Given the description of an element on the screen output the (x, y) to click on. 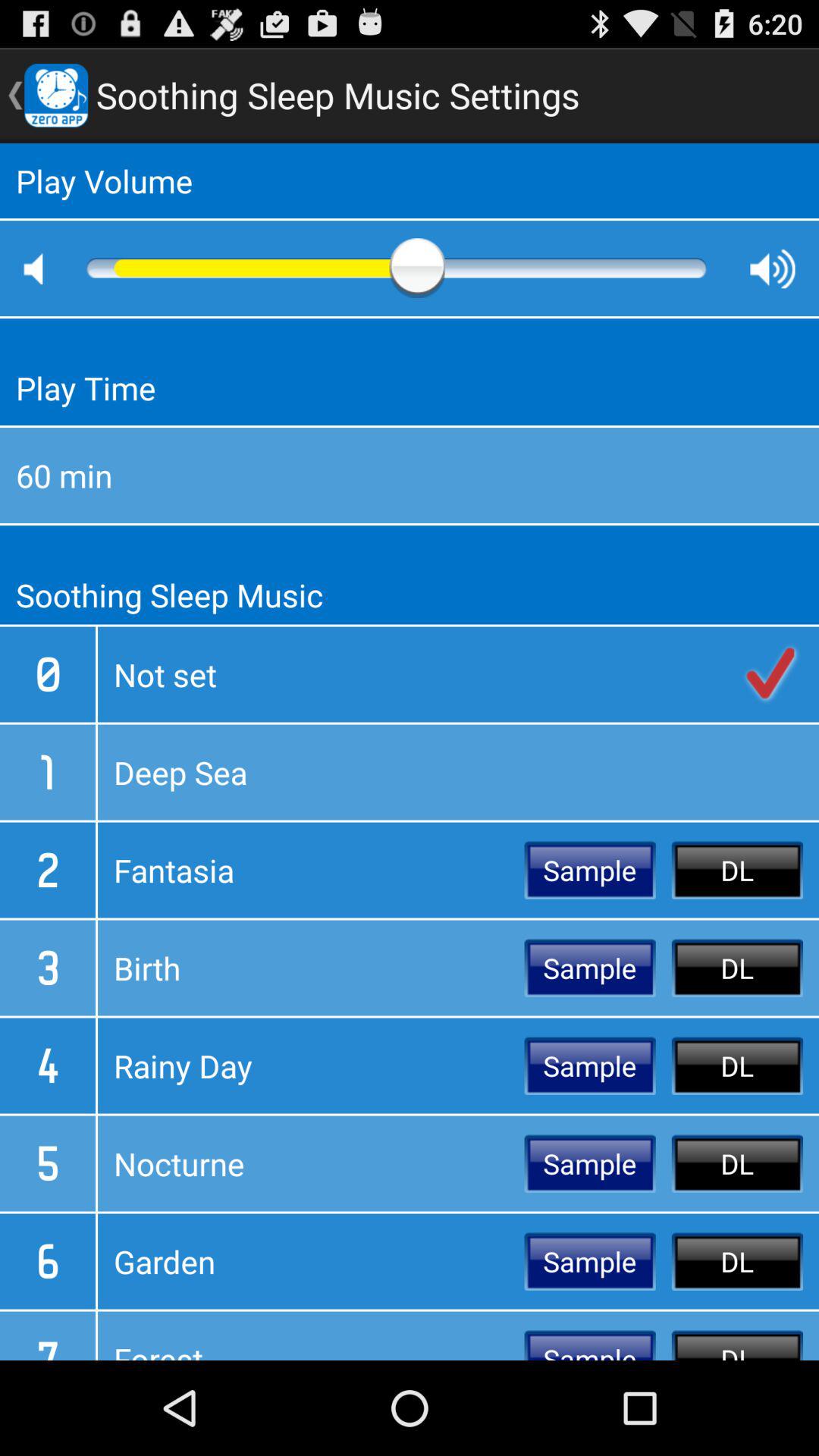
press the 1 (47, 771)
